Given the description of an element on the screen output the (x, y) to click on. 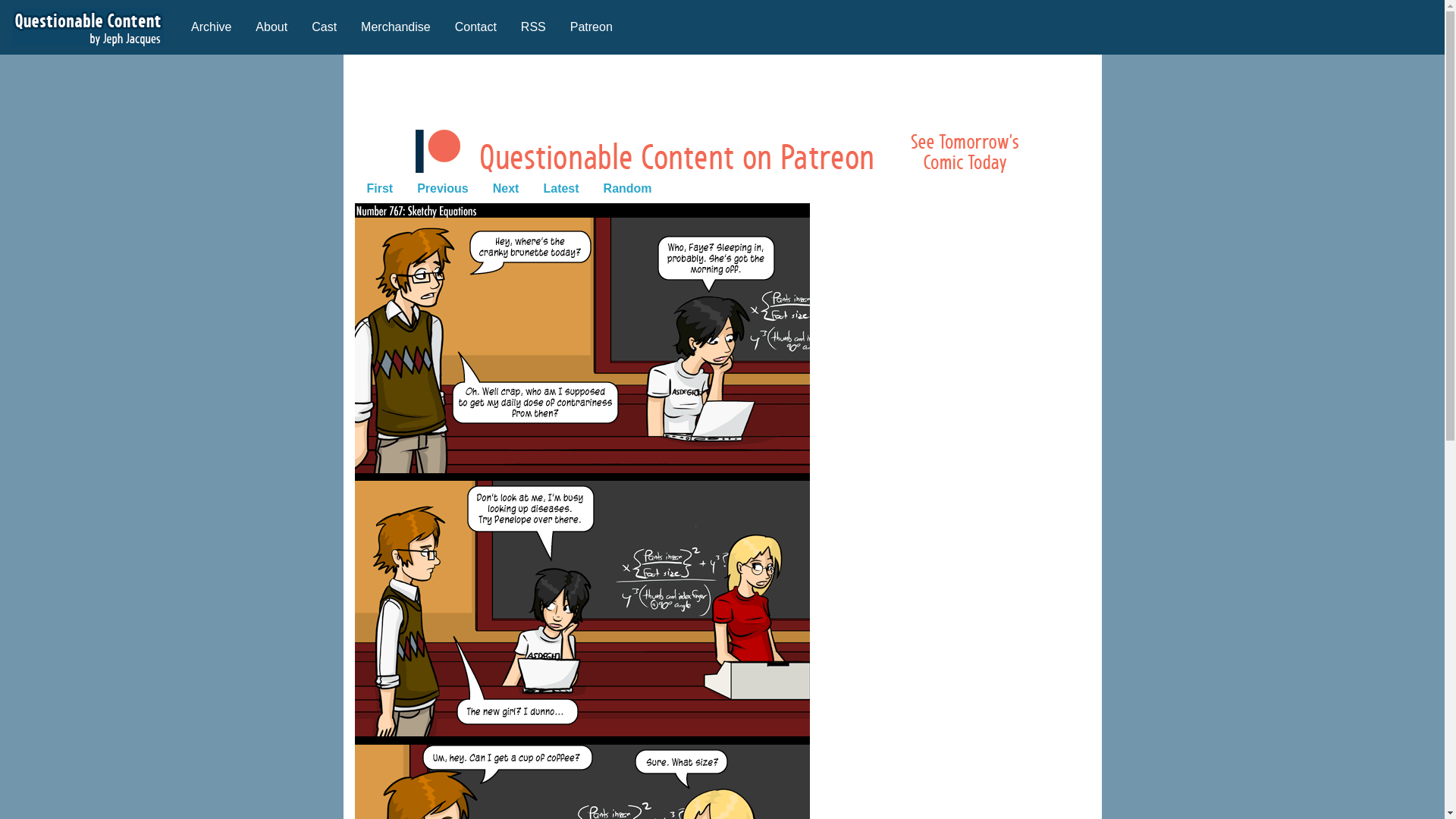
Advertisement (721, 88)
Patreon (590, 27)
Random (627, 187)
Archive (211, 27)
RSS (532, 27)
Merchandise (395, 27)
Contact (475, 27)
Cast (324, 27)
Latest (561, 187)
First (380, 187)
